Given the description of an element on the screen output the (x, y) to click on. 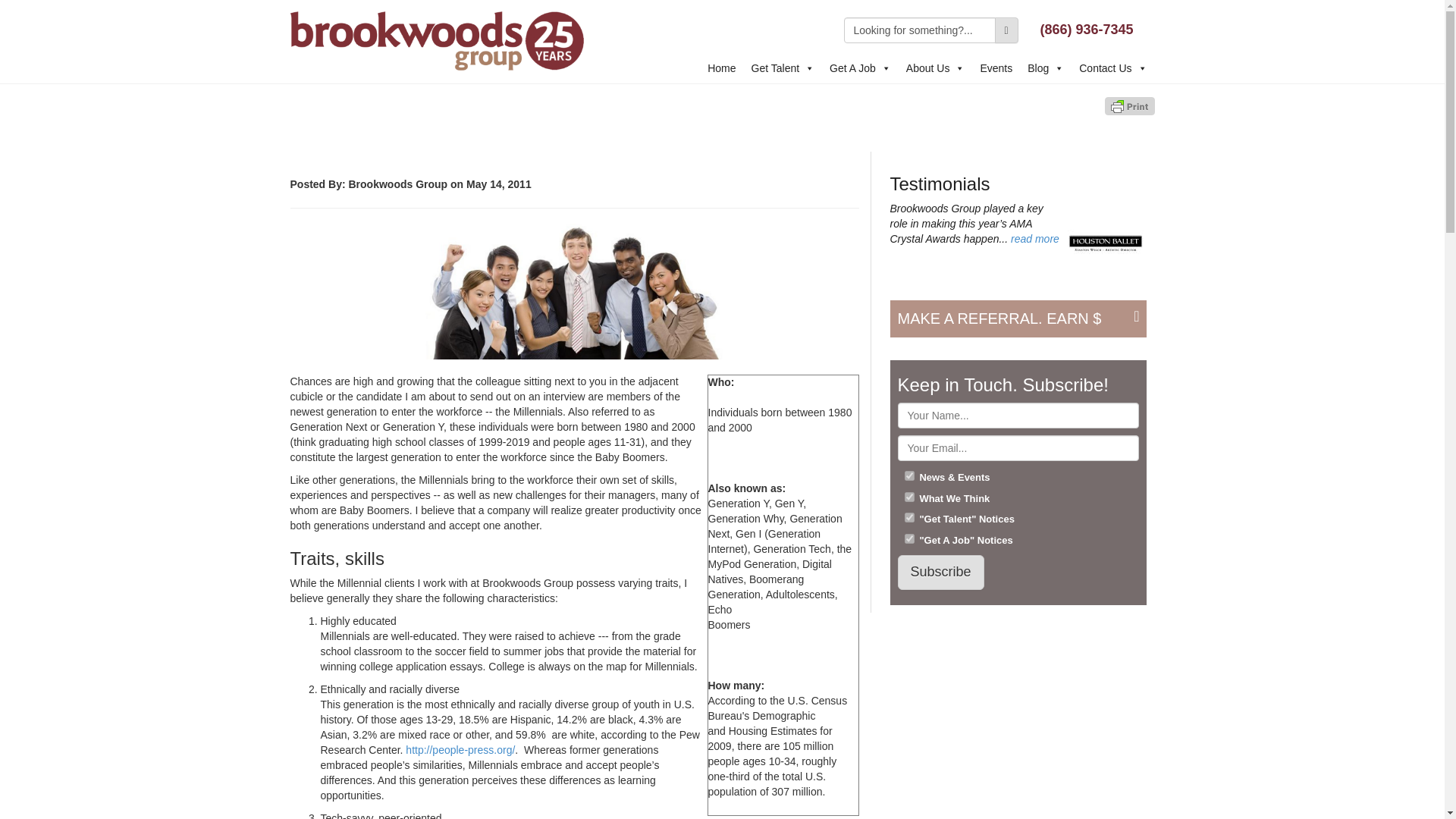
1 (909, 475)
4 (909, 517)
About Us (935, 68)
Get Talent (783, 68)
featured (574, 291)
Get A Job (860, 68)
Subscribe (941, 572)
Looking for something?... (918, 30)
2 (909, 497)
Home (721, 68)
8 (909, 538)
